Given the description of an element on the screen output the (x, y) to click on. 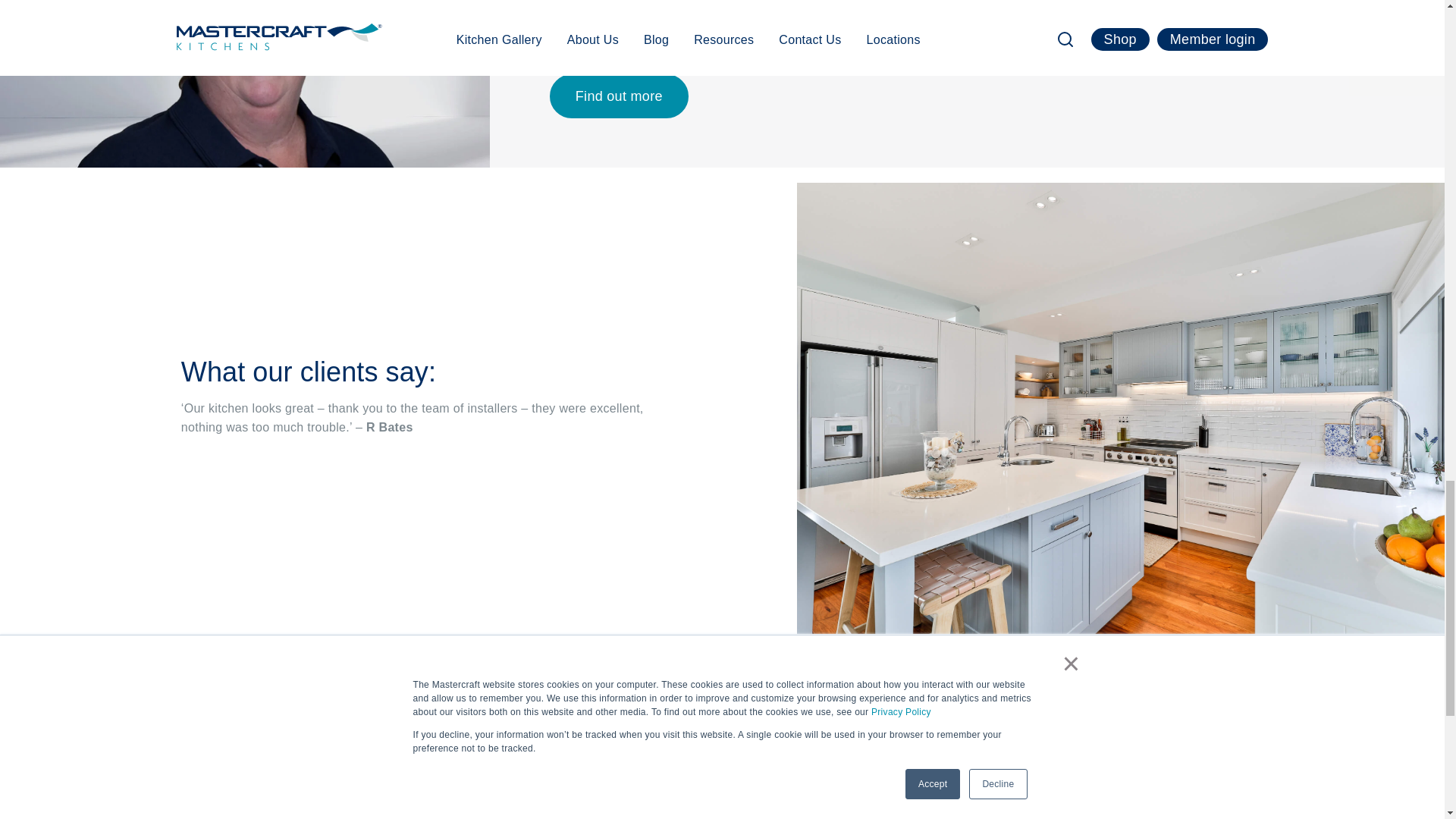
Find out more (619, 95)
